Given the description of an element on the screen output the (x, y) to click on. 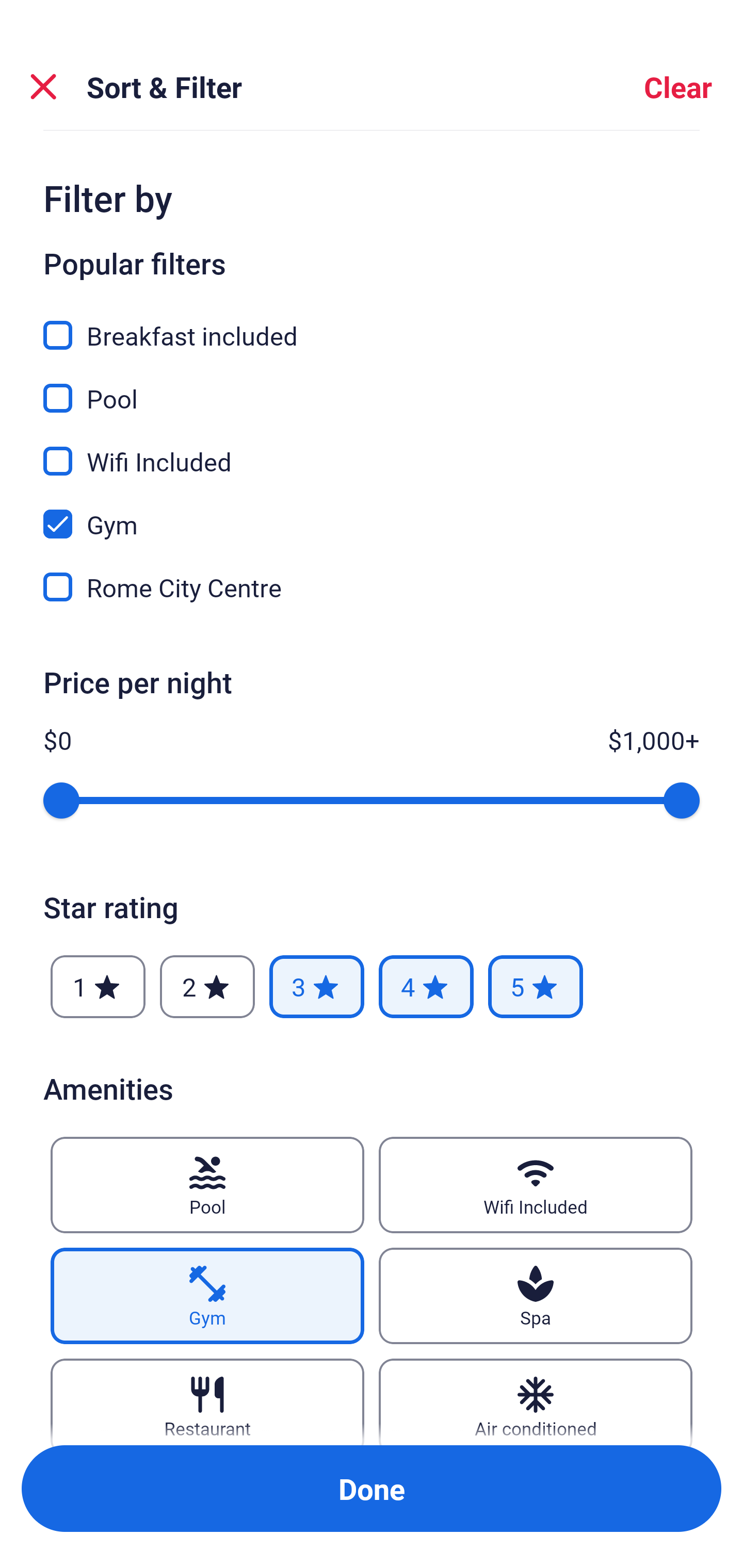
Close Sort and Filter (43, 86)
Clear (677, 86)
Breakfast included, Breakfast included (371, 324)
Pool, Pool (371, 386)
Wifi Included, Wifi Included (371, 449)
Gym, Gym (371, 512)
Rome City Centre, Rome City Centre (371, 587)
1 (97, 986)
2 (206, 986)
3 (316, 986)
4 (426, 986)
5 (535, 986)
Pool (207, 1185)
Wifi Included (535, 1185)
Gym (207, 1295)
Spa (535, 1295)
Restaurant (207, 1401)
Air conditioned (535, 1401)
Apply and close Sort and Filter Done (371, 1488)
